Given the description of an element on the screen output the (x, y) to click on. 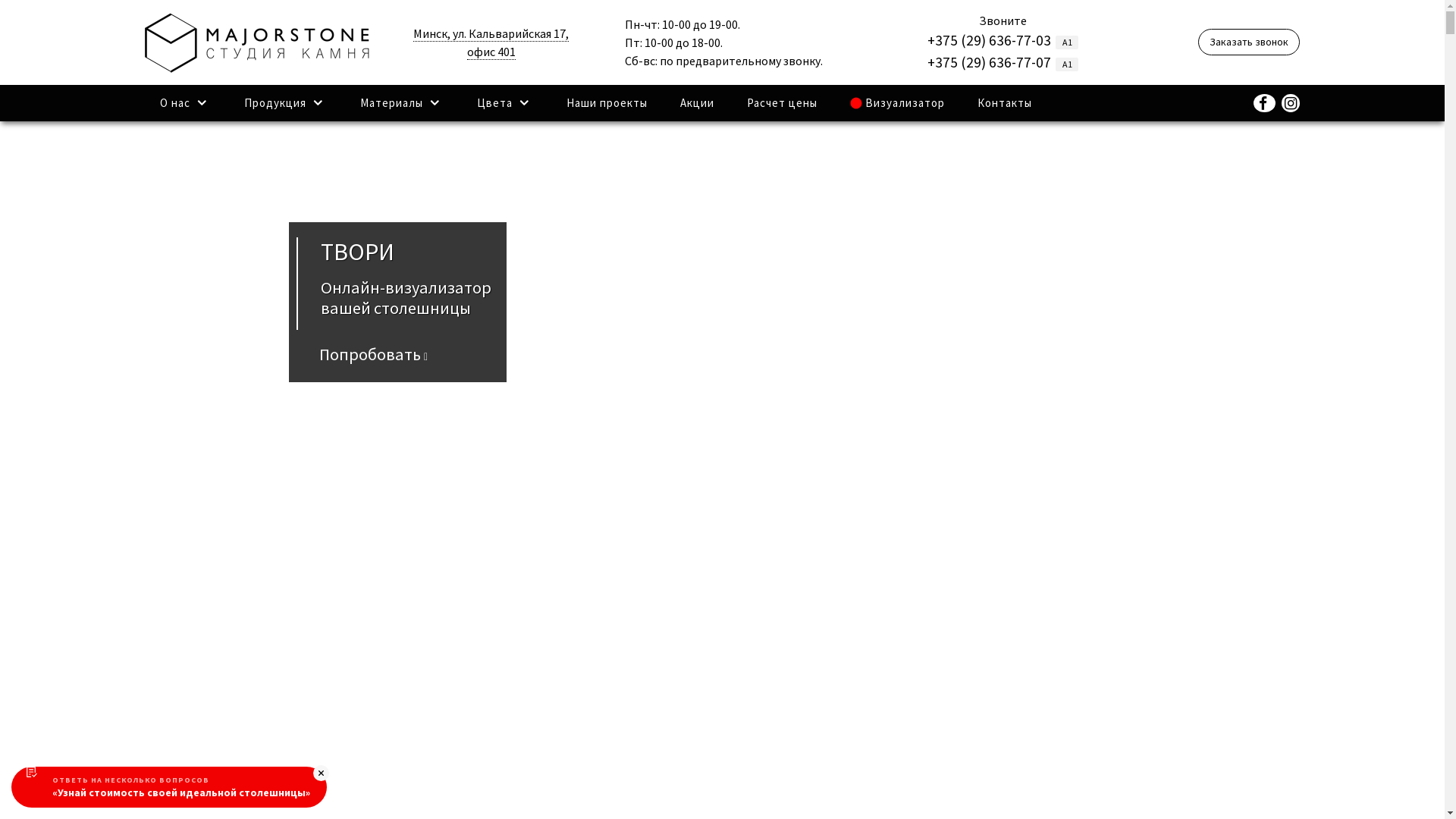
+375 (29) 636-77-07 Element type: text (989, 62)
+375 (29) 636-77-03 Element type: text (989, 40)
